Given the description of an element on the screen output the (x, y) to click on. 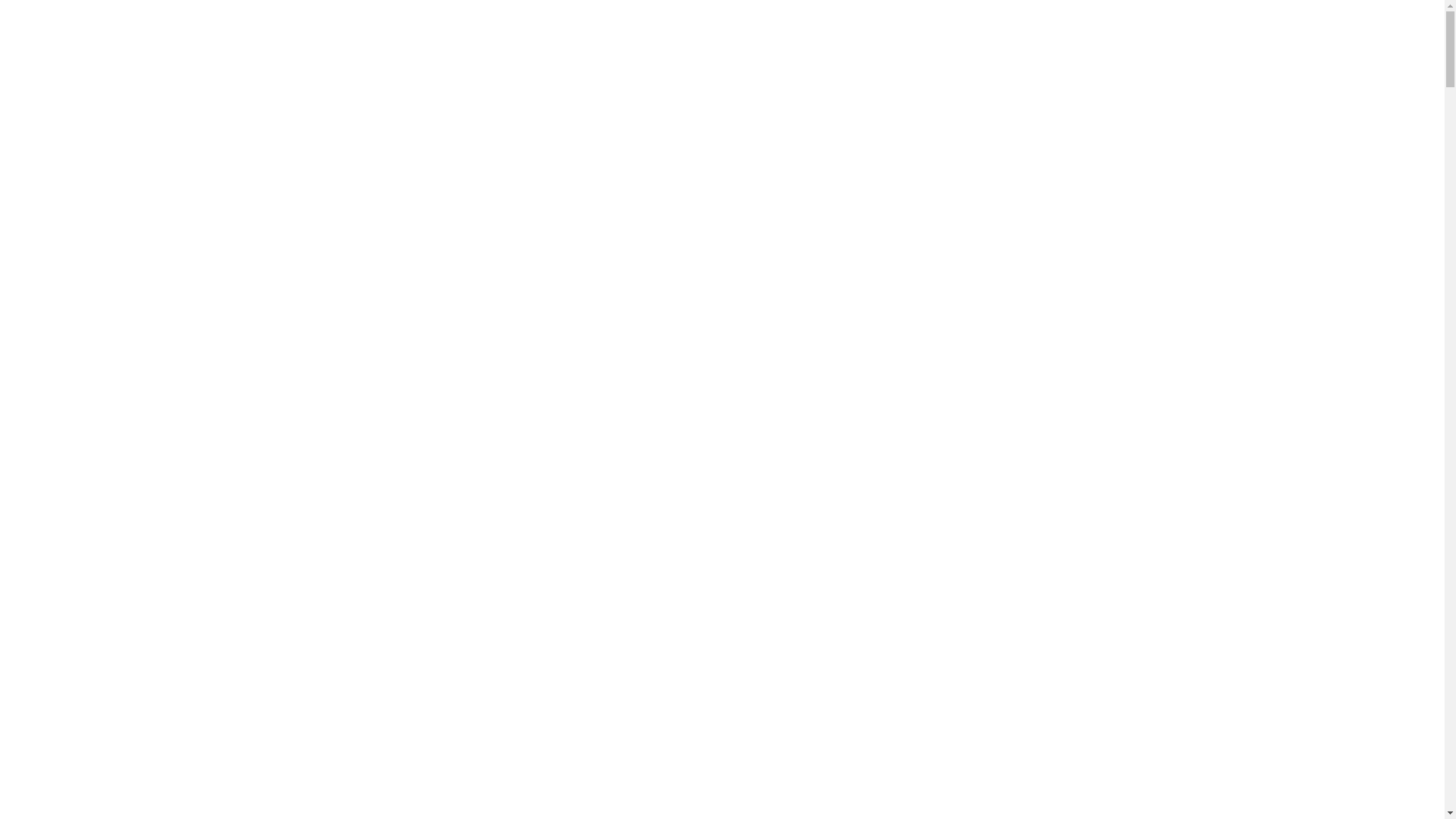
Latest News Element type: text (63, 594)
Social Media Element type: text (63, 752)
The Tasmanian Yachtsman Element type: text (100, 576)
The Tasmanian Yachtsman Element type: text (100, 643)
Communications Element type: text (76, 570)
Newsletters Element type: text (62, 611)
HOME Element type: text (729, 519)
Latest News Element type: text (63, 661)
Videos Element type: text (48, 735)
Newsletters Element type: text (62, 677)
Videos Element type: text (48, 802)
Media Element type: text (38, 712)
Gallery Element type: text (49, 718)
ABOUT Element type: text (729, 544)
Gallery Element type: text (49, 785)
